Given the description of an element on the screen output the (x, y) to click on. 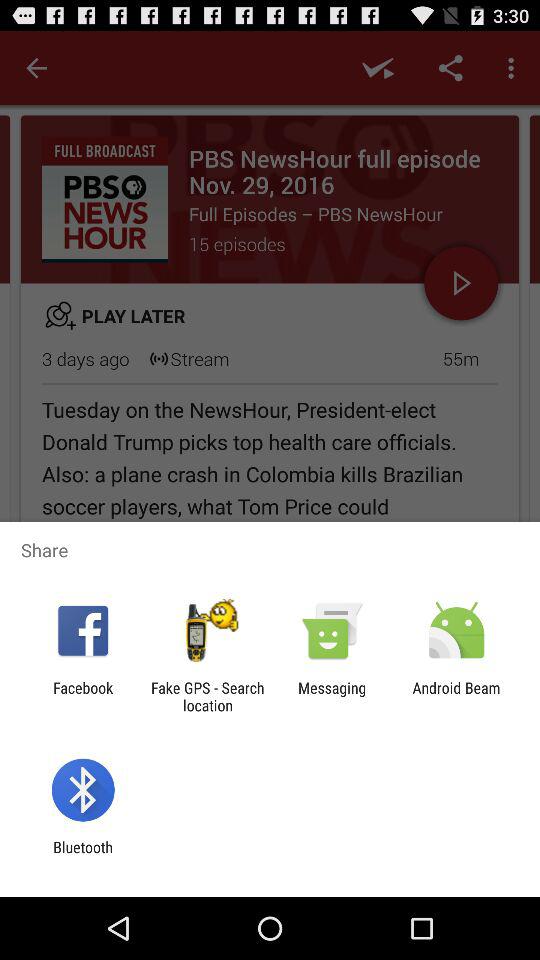
swipe until fake gps search app (207, 696)
